Given the description of an element on the screen output the (x, y) to click on. 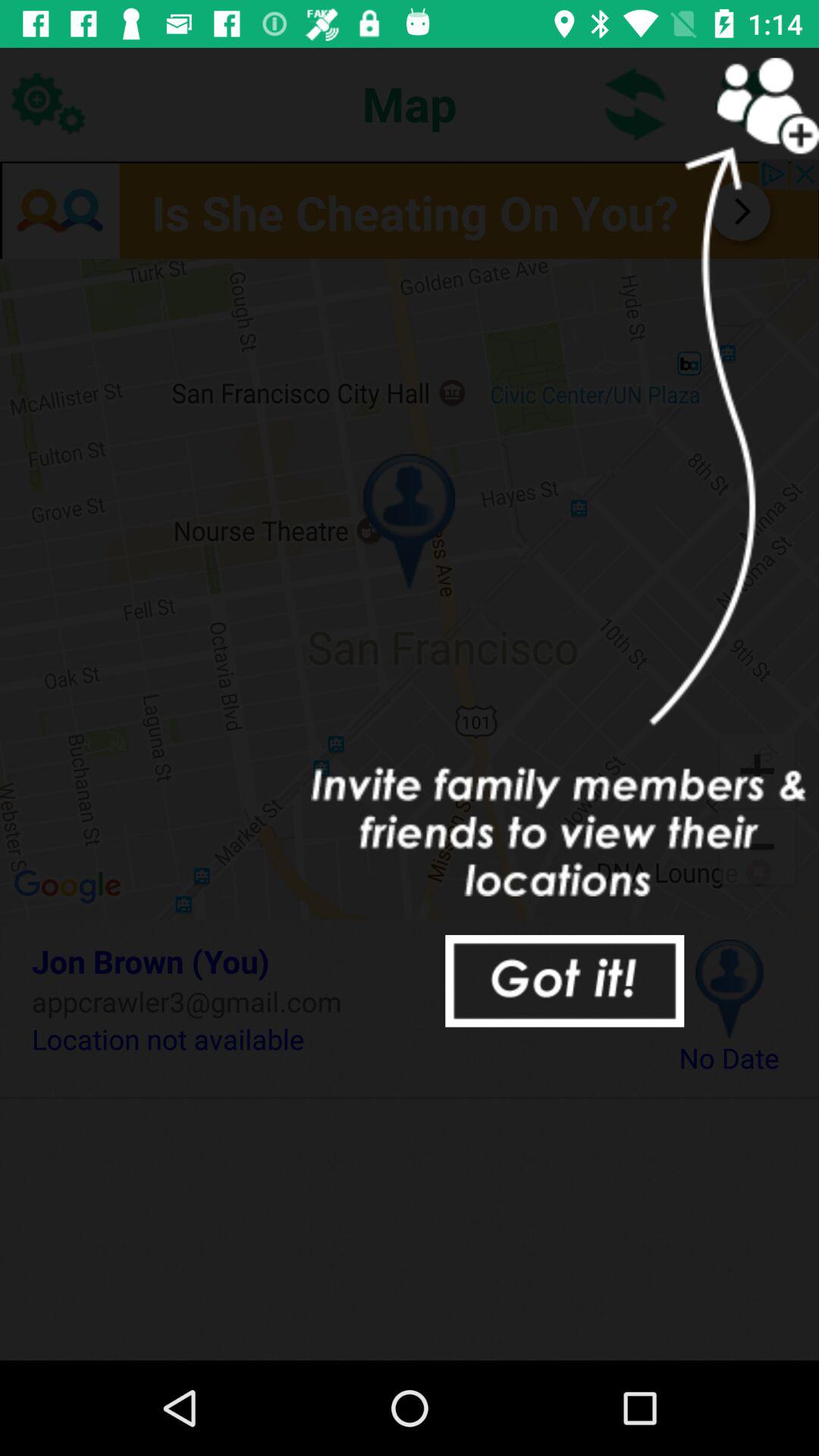
turn on the icon above appcrawler3@gmail.com (332, 960)
